Given the description of an element on the screen output the (x, y) to click on. 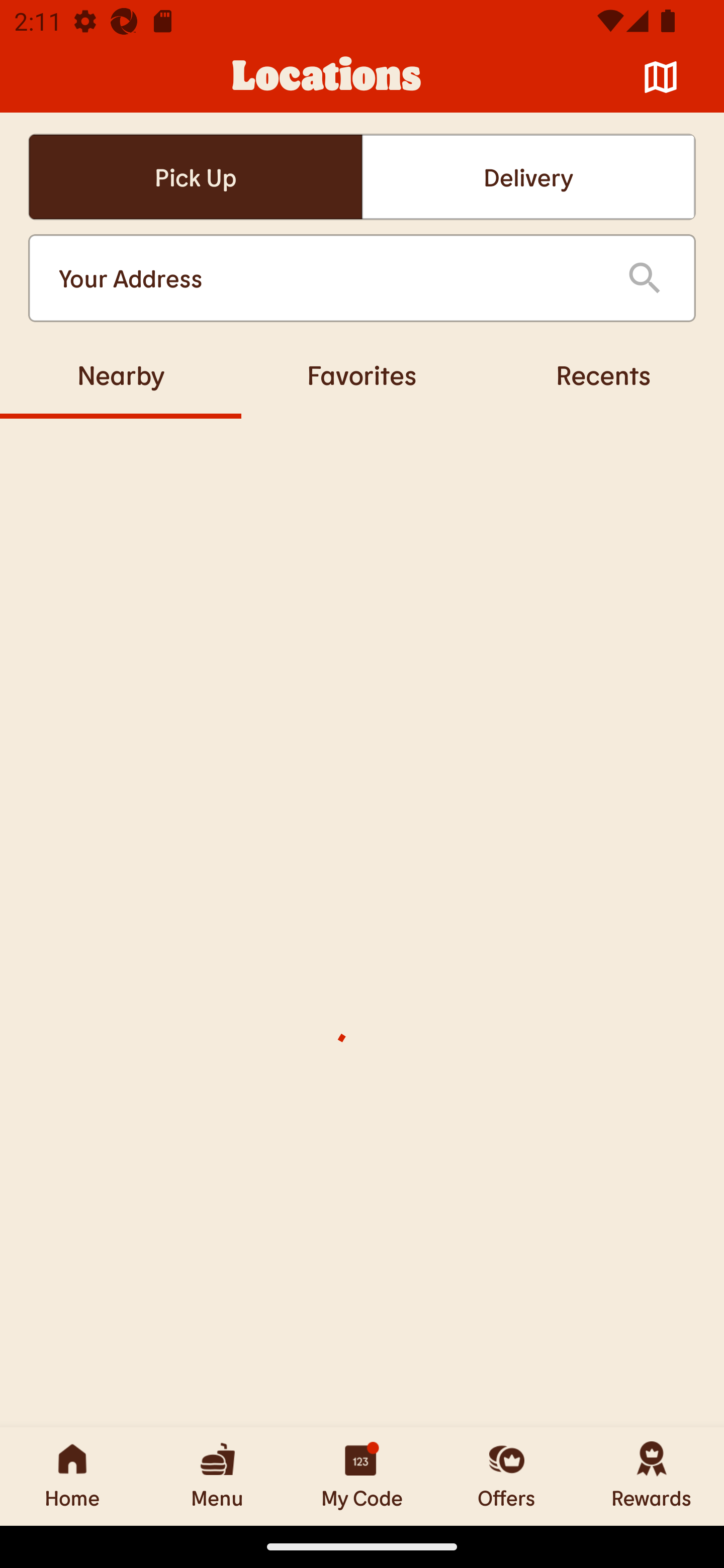
Map 󰦂 (660, 77)
Locations (326, 77)
Pick UpSelected Pick UpSelected Pick Up (195, 176)
Delivery Delivery Delivery (528, 176)
Your Address (327, 277)
Nearby (120, 374)
Favorites (361, 374)
Recents (603, 374)
Home (72, 1475)
Menu (216, 1475)
My Code (361, 1475)
Offers (506, 1475)
Rewards (651, 1475)
